Given the description of an element on the screen output the (x, y) to click on. 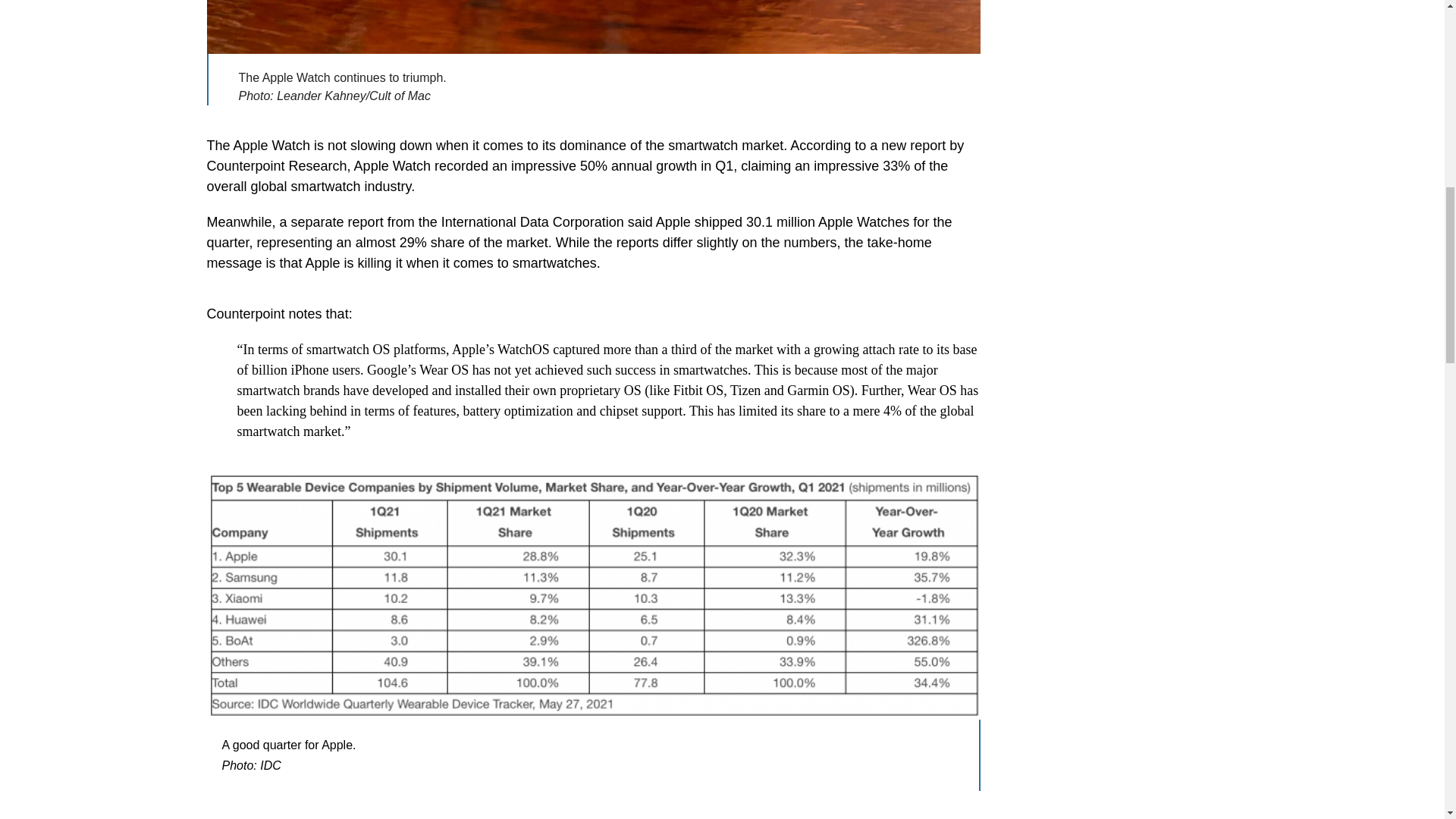
1 out of 3 smartwatches shipped in Q1 is an Apple Watch (592, 27)
